Given the description of an element on the screen output the (x, y) to click on. 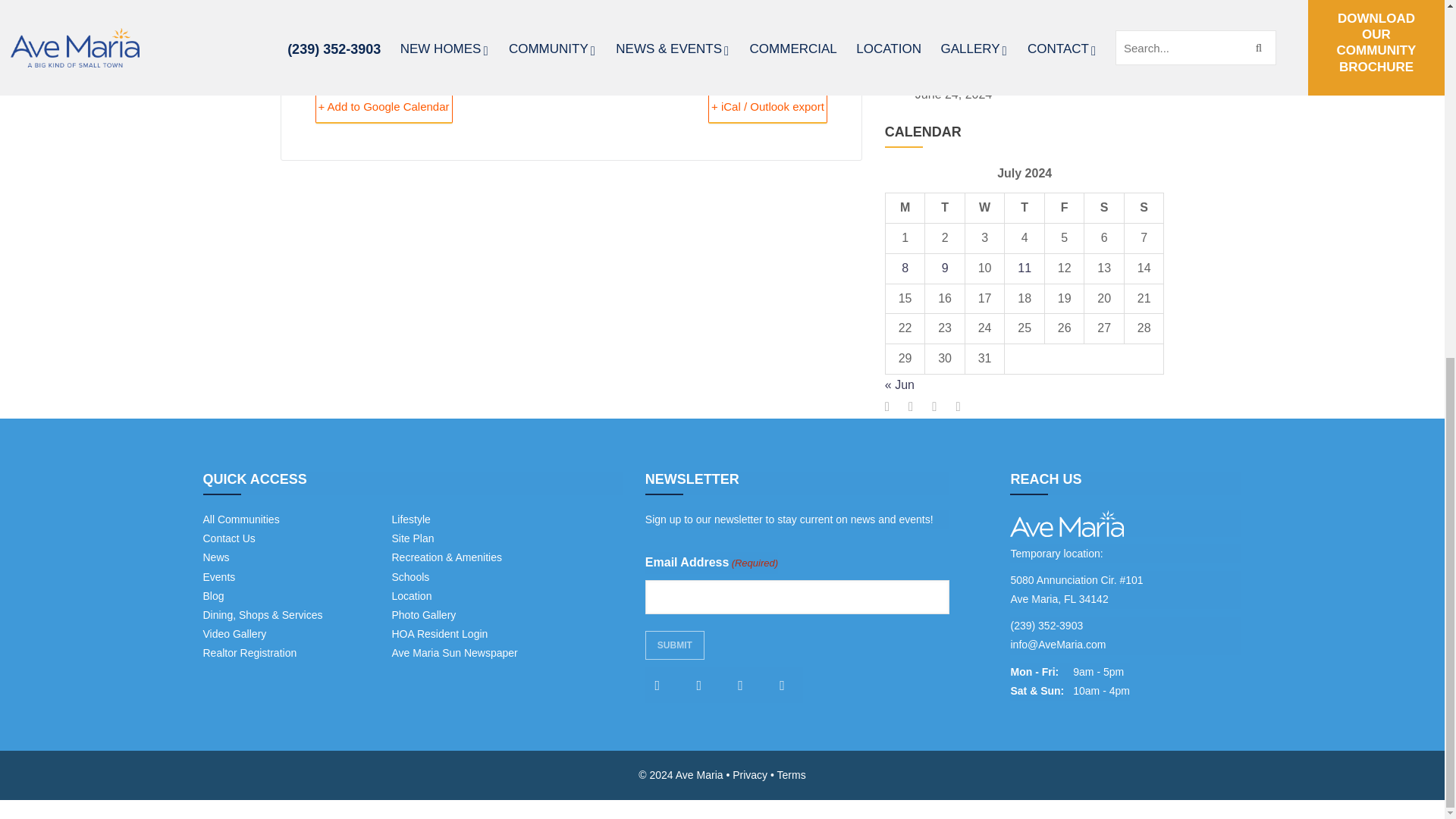
Wednesday (983, 208)
Friday (1063, 208)
Saturday (1104, 208)
Submit (674, 645)
Monday (904, 208)
Tuesday (944, 208)
Sunday (1143, 208)
Thursday (1024, 208)
